Given the description of an element on the screen output the (x, y) to click on. 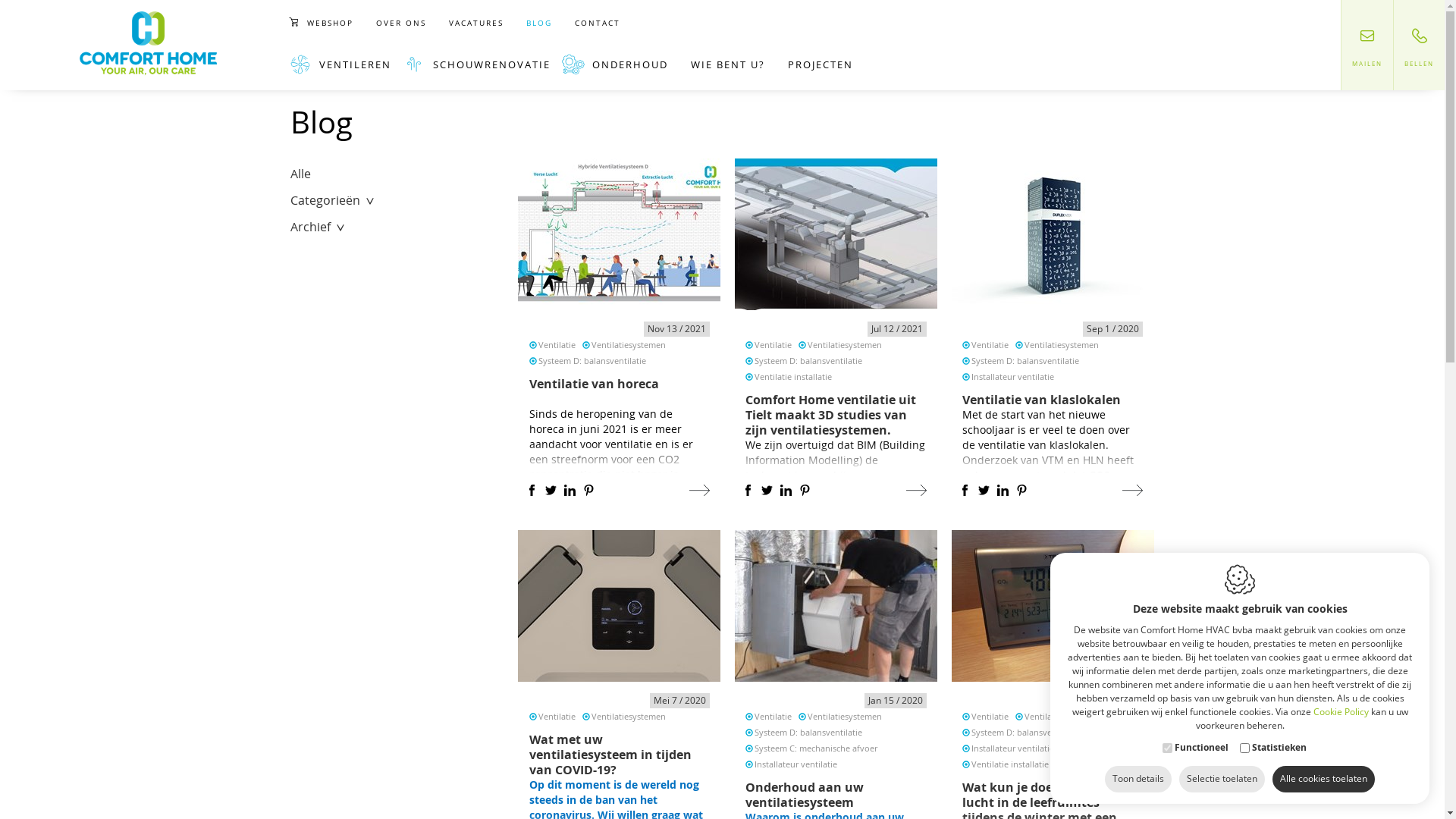
Systeem D: balansventilatie Element type: text (808, 360)
Cookie Policy Element type: text (1340, 711)
Ventilatie installatie Element type: text (792, 376)
VENTILEREN Element type: text (345, 64)
BELLEN Element type: text (1418, 45)
Installateur ventilatie Element type: text (1012, 747)
Ventilatie Element type: text (772, 715)
Ventilatie Element type: text (556, 715)
Ventilatie Element type: text (772, 344)
PROJECTEN Element type: text (820, 64)
OVER ONS Element type: text (400, 22)
Ventilatiesystemen Element type: text (628, 344)
Systeem D: balansventilatie Element type: text (592, 360)
CONTACT Element type: text (597, 22)
Ventilatiesystemen Element type: text (1061, 715)
Ventilatie Element type: text (989, 715)
WIE BENT U? Element type: text (727, 64)
Ventilatiesystemen Element type: text (1061, 344)
Systeem D: balansventilatie Element type: text (1025, 360)
Systeem D: balansventilatie Element type: text (808, 731)
Ventilatiesystemen Element type: text (844, 715)
Toon details Element type: text (1137, 778)
BLOG Element type: text (538, 22)
ONDERHOUD Element type: text (620, 64)
Ventilatie Element type: text (556, 344)
Systeem D: balansventilatie Element type: text (1025, 731)
Ventilatie installatie Element type: text (1009, 763)
SCHOUWRENOVATIE Element type: text (481, 64)
Systeem C: mechanische afvoer Element type: text (815, 747)
Ventilatiesystemen Element type: text (628, 715)
MAILEN Element type: text (1366, 45)
Installateur ventilatie Element type: text (795, 763)
WEBSHOP Element type: text (326, 22)
Installateur ventilatie Element type: text (1012, 376)
Alle Element type: text (299, 171)
VACATURES Element type: text (475, 22)
Ventilatie Element type: text (989, 344)
Ventilatiesystemen Element type: text (844, 344)
